Given the description of an element on the screen output the (x, y) to click on. 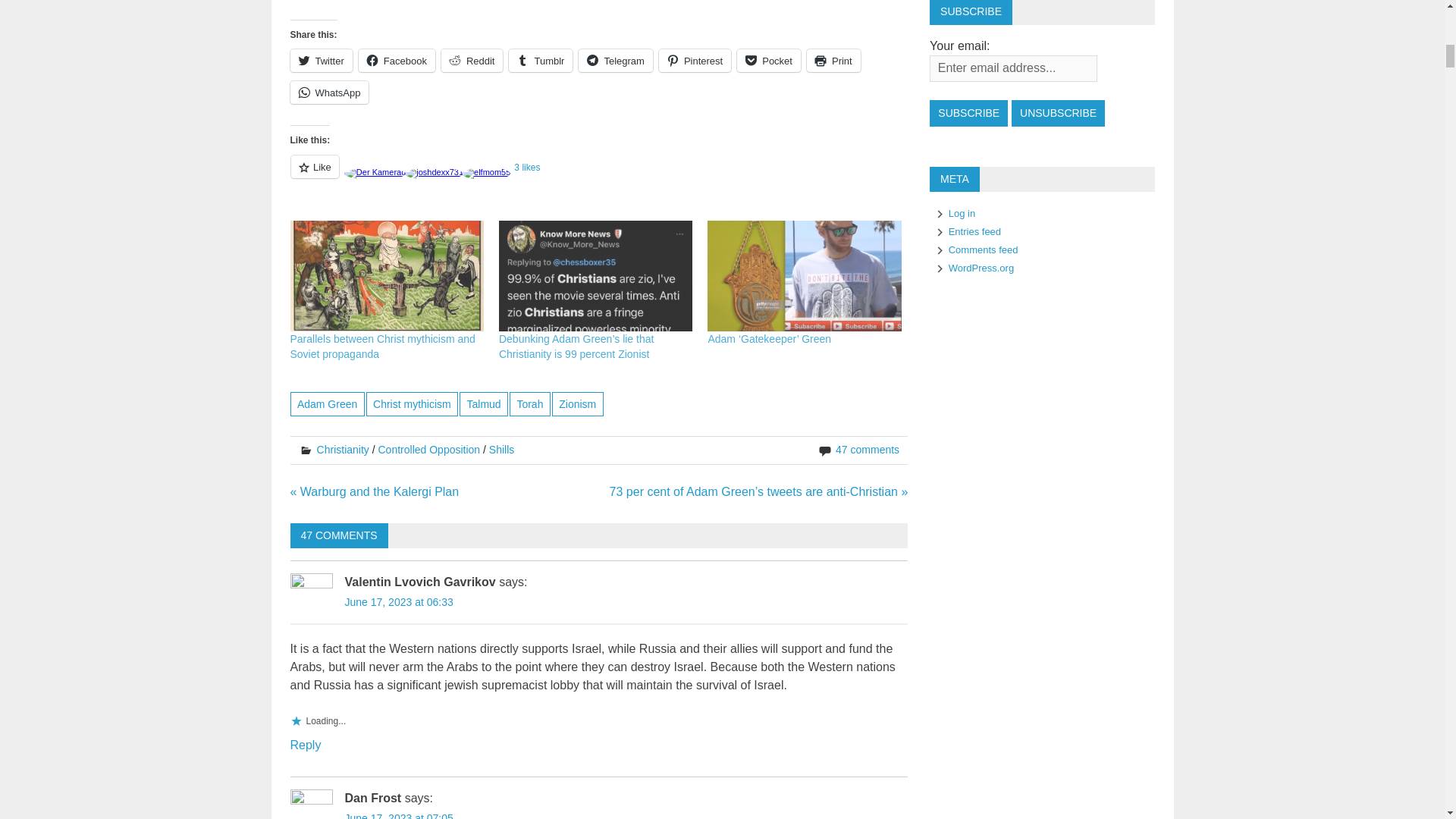
Click to share on Pinterest (694, 60)
Enter email address... (1013, 67)
Like or Reblog (598, 175)
Click to share on Twitter (320, 60)
Click to share on Facebook (396, 60)
Parallels between Christ mythicism and Soviet propaganda (386, 275)
Subscribe (968, 112)
Click to share on Telegram (615, 60)
Click to share on Pocket (768, 60)
Unsubscribe (1058, 112)
Click to share on WhatsApp (328, 92)
Click to print (833, 60)
Parallels between Christ mythicism and Soviet propaganda (381, 346)
Click to share on Tumblr (540, 60)
Click to share on Reddit (472, 60)
